Given the description of an element on the screen output the (x, y) to click on. 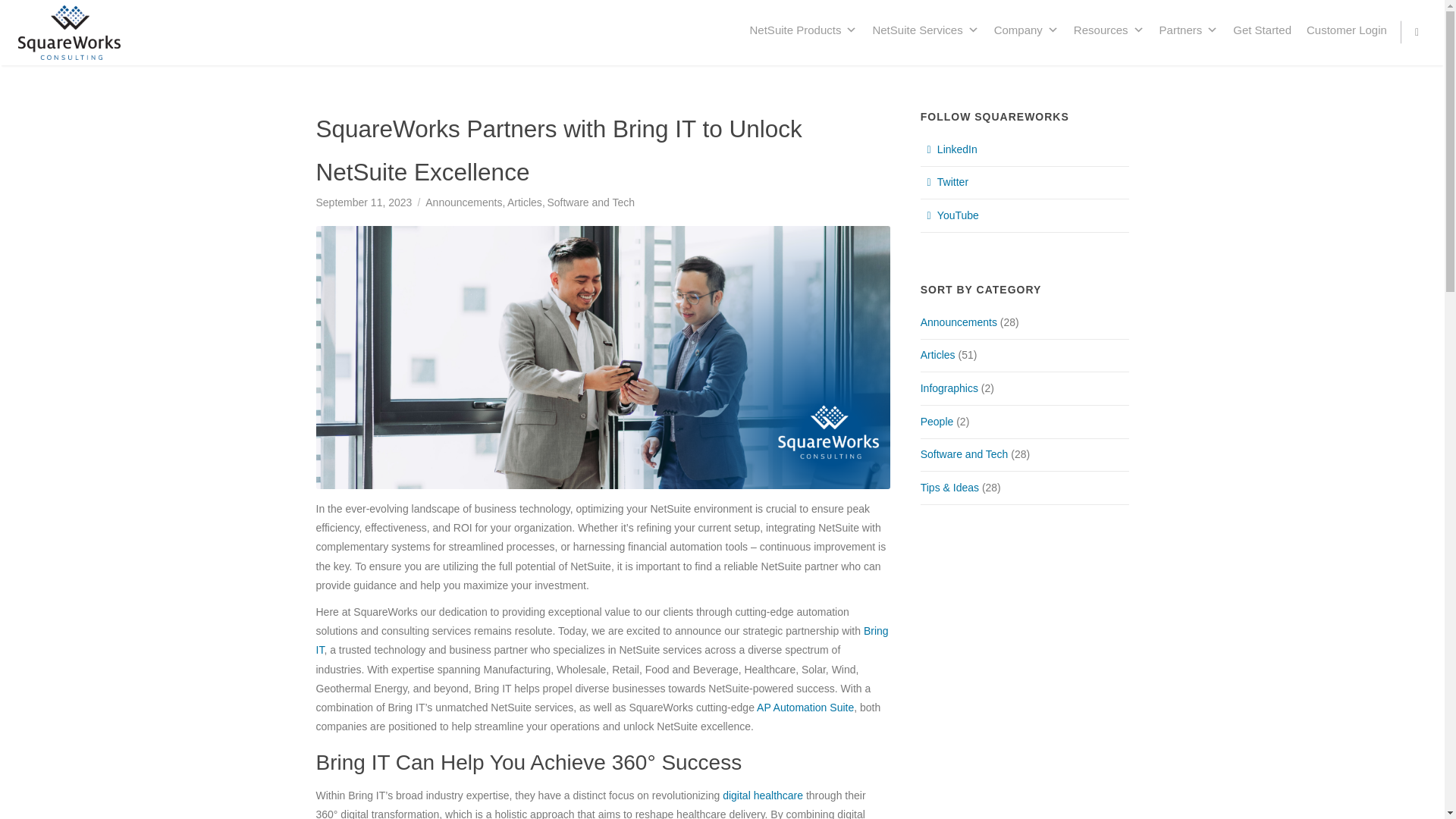
Partners (1188, 30)
Resources (1108, 30)
Get Started (1261, 30)
Customer Login (1346, 30)
NetSuite Products (803, 30)
View all posts in Software and Tech (590, 202)
NetSuite Services (924, 30)
Company (1026, 30)
Get Started (1261, 30)
View all posts in Announcements (465, 202)
